Given the description of an element on the screen output the (x, y) to click on. 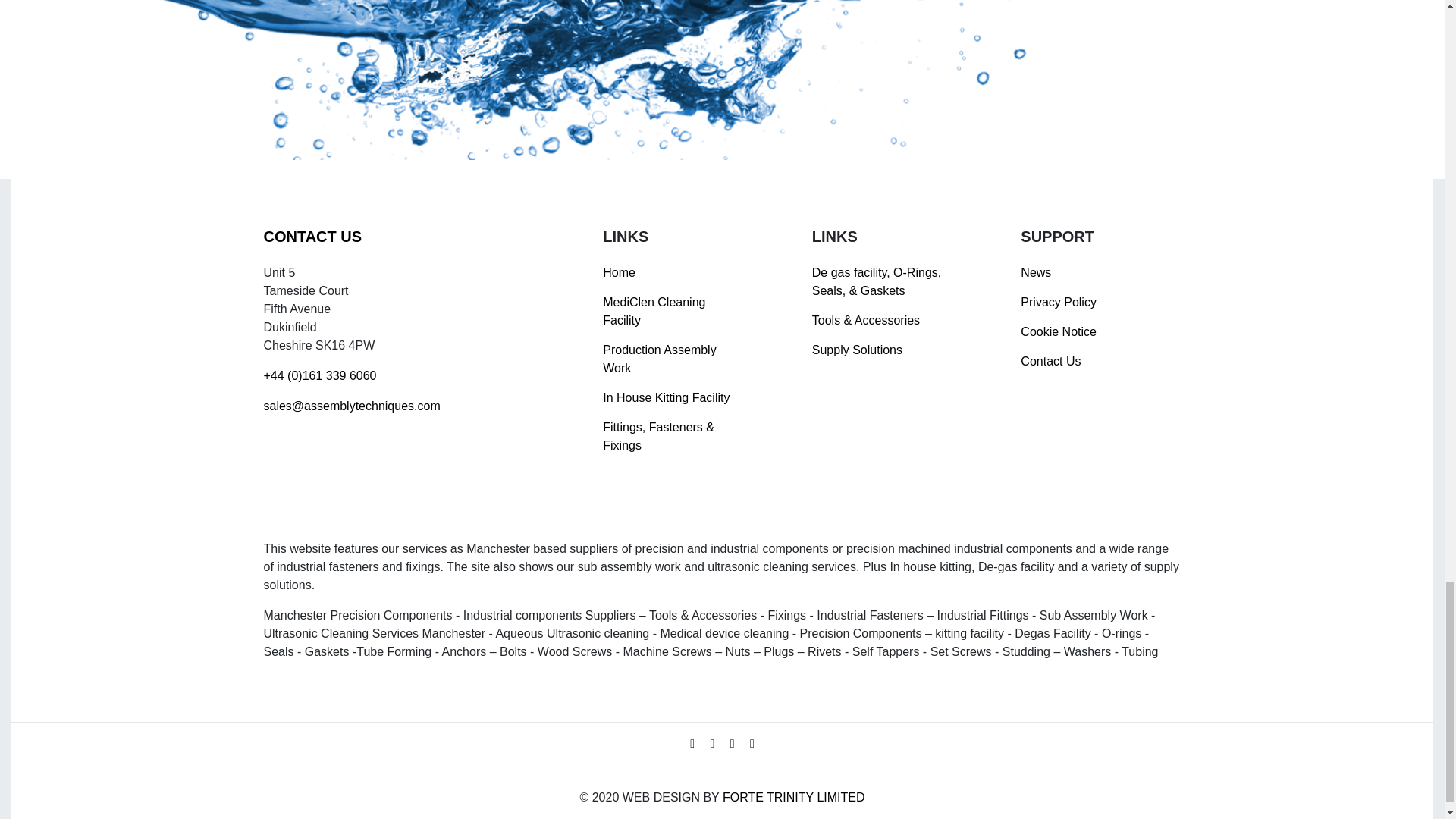
CONTACT US (312, 236)
Home (618, 272)
Production Assembly Work (659, 358)
In House Kitting Facility (665, 397)
MediClen Cleaning Facility (653, 310)
